Given the description of an element on the screen output the (x, y) to click on. 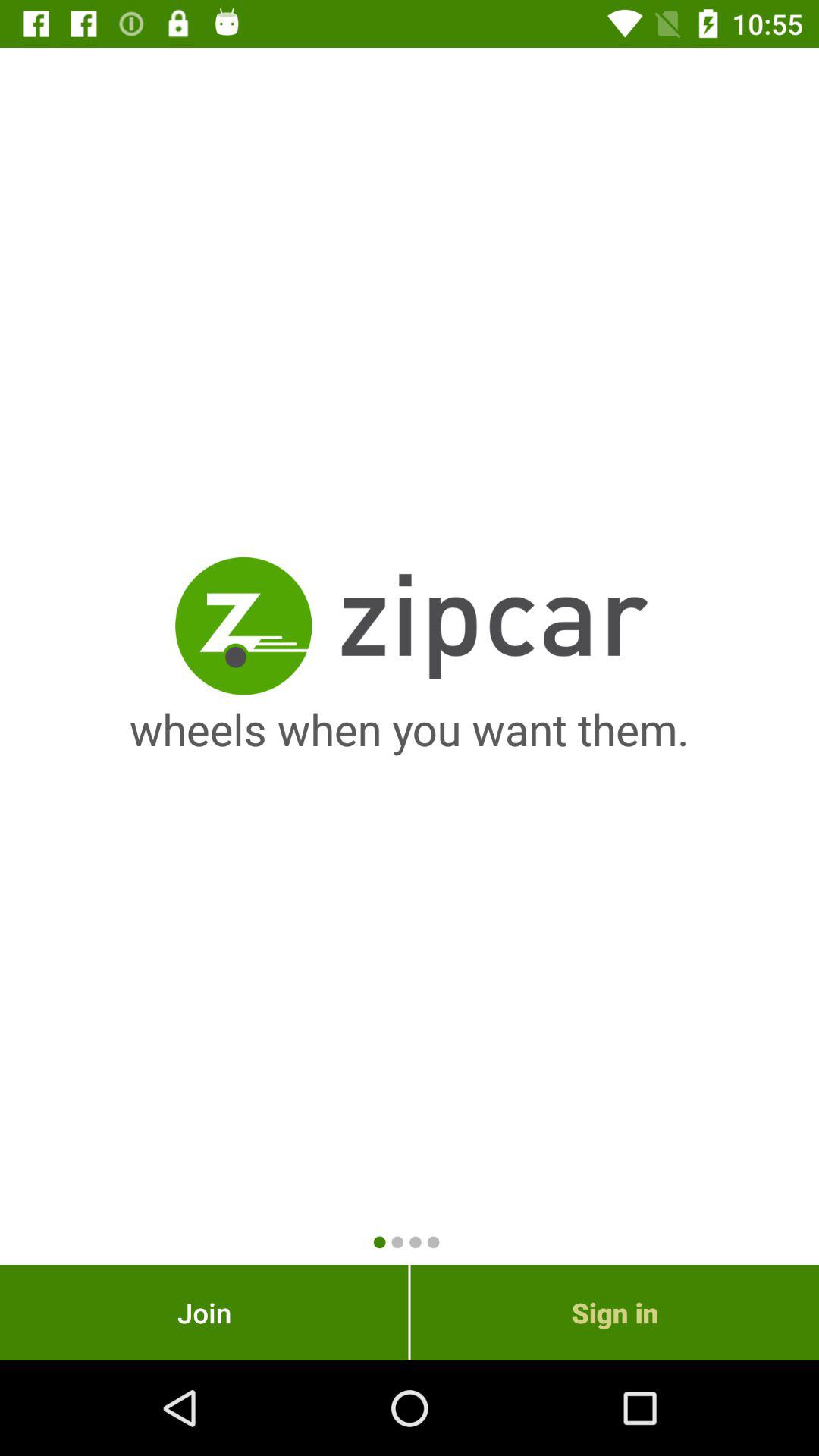
open item next to the join (614, 1312)
